Given the description of an element on the screen output the (x, y) to click on. 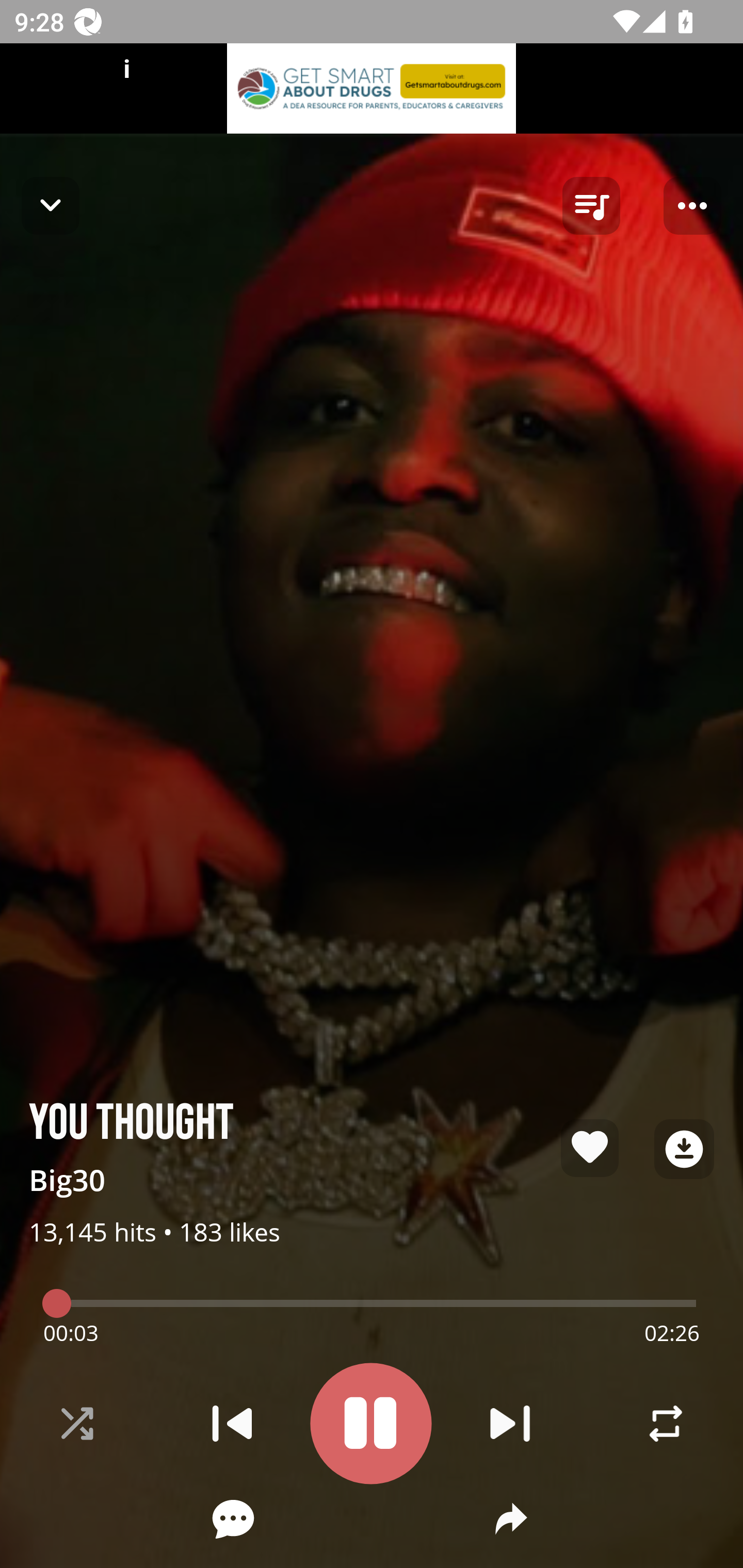
Navigate up (50, 205)
queue (590, 206)
Player options (692, 206)
